Given the description of an element on the screen output the (x, y) to click on. 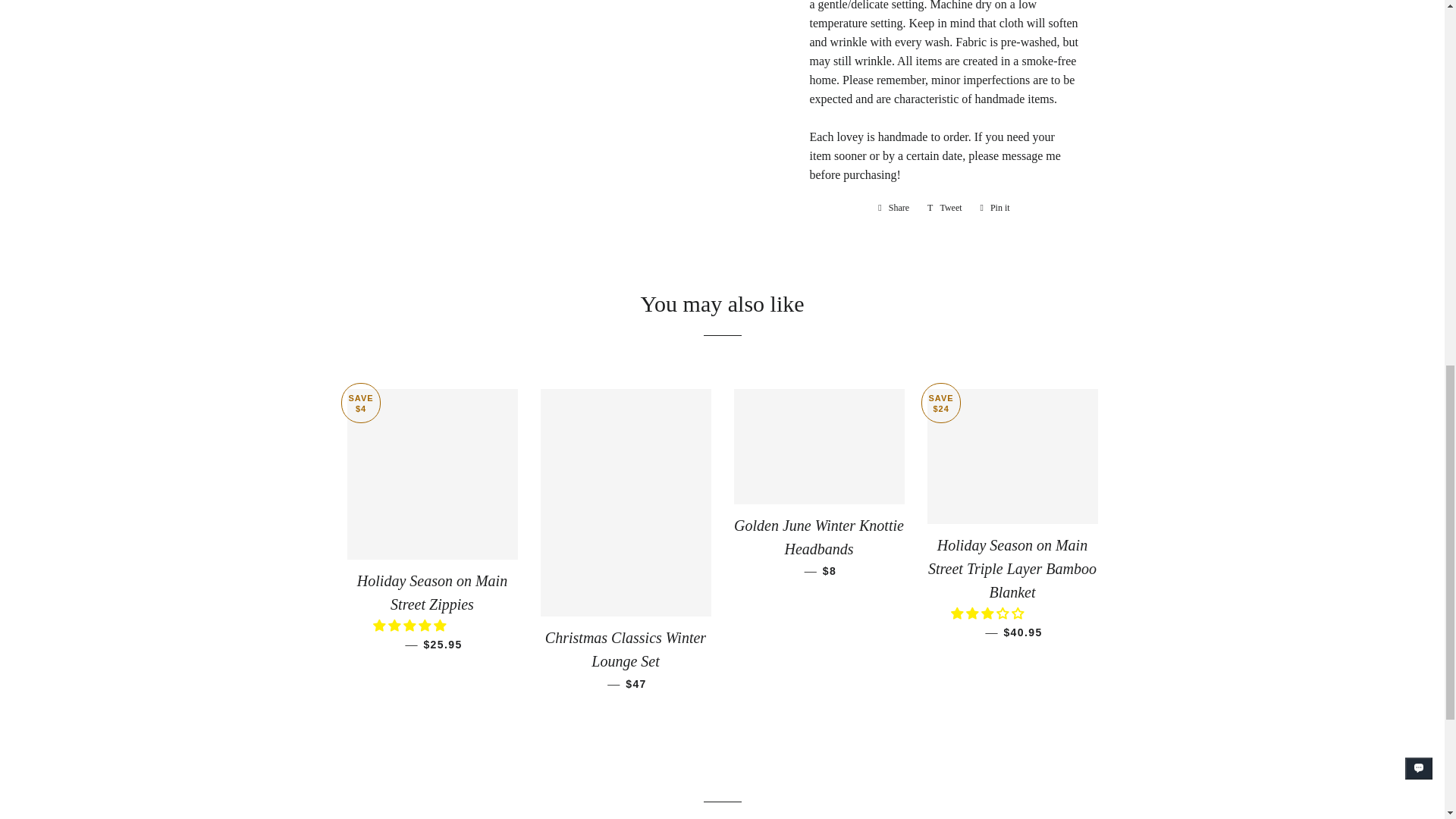
Share on Facebook (893, 207)
Pin on Pinterest (994, 207)
Tweet on Twitter (944, 207)
